Given the description of an element on the screen output the (x, y) to click on. 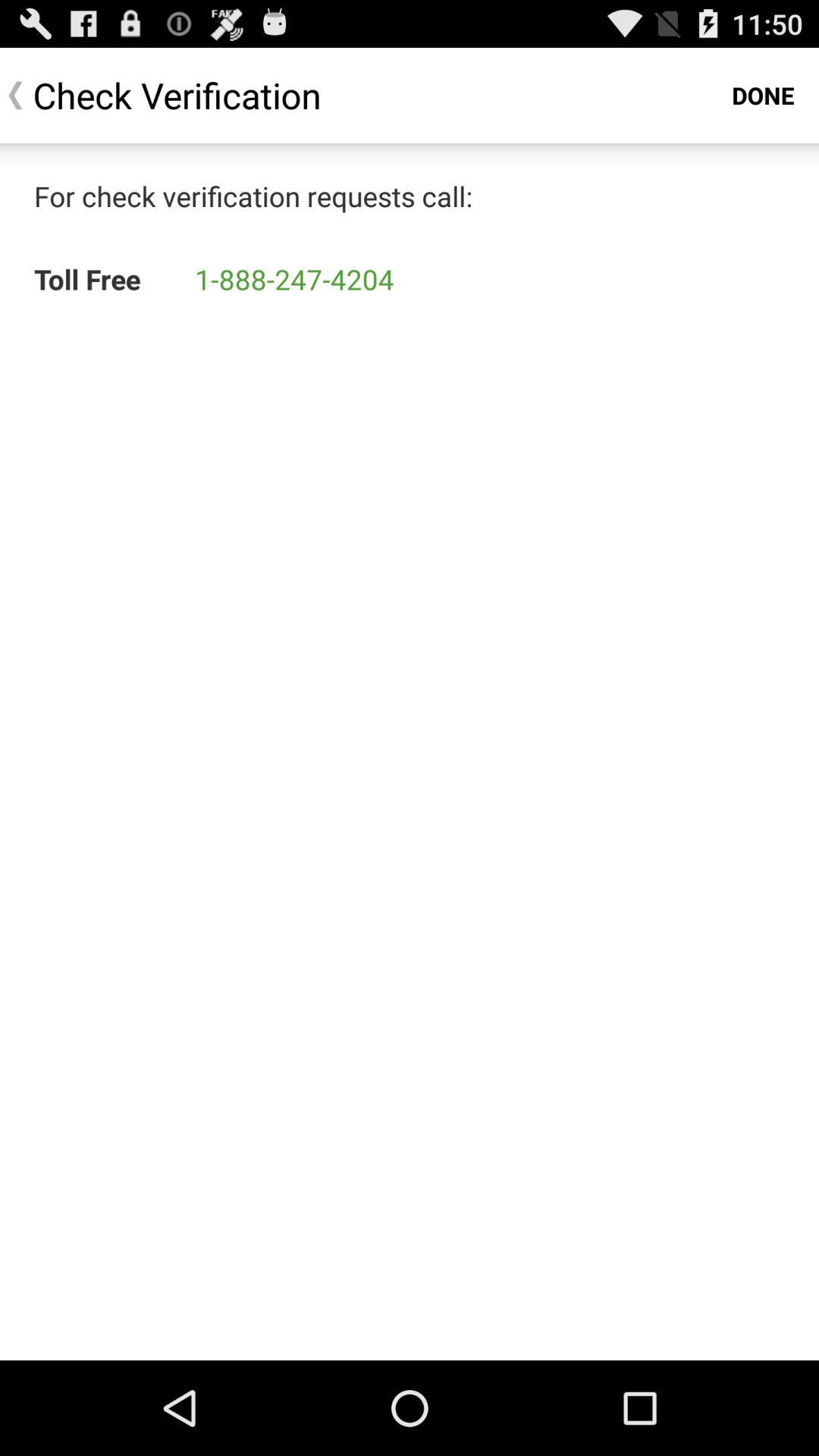
tap icon above for check verification item (763, 95)
